Given the description of an element on the screen output the (x, y) to click on. 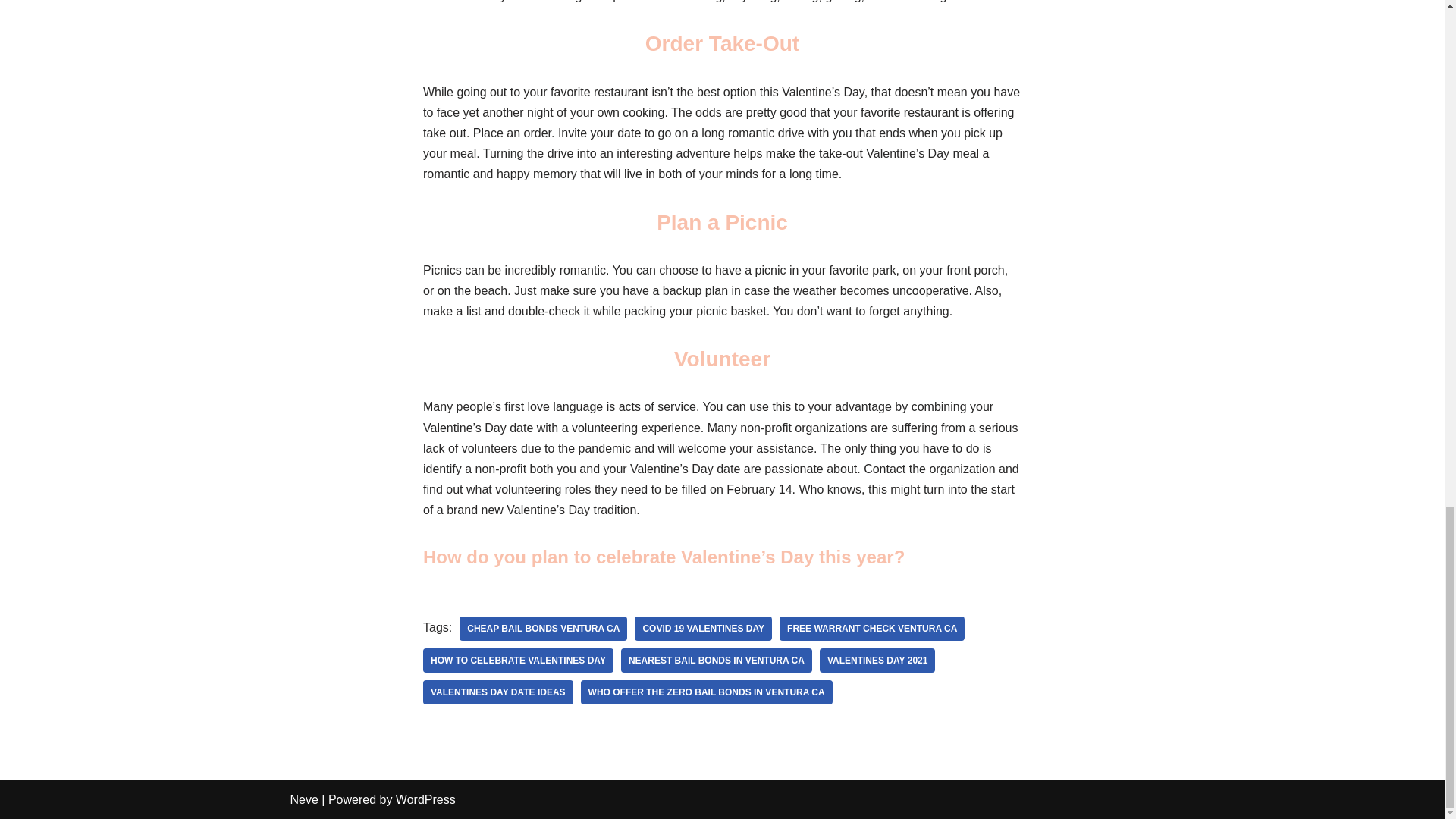
COVID 19 VALENTINES DAY (702, 628)
VALENTINES DAY DATE IDEAS (498, 692)
HOW TO CELEBRATE VALENTINES DAY (517, 660)
WordPress (425, 799)
covid 19 valentines day (702, 628)
nearest bail bonds in ventura ca (716, 660)
WHO OFFER THE ZERO BAIL BONDS IN VENTURA CA (706, 692)
valentines day 2021 (877, 660)
free warrant check ventura ca (870, 628)
how to celebrate valentines day (517, 660)
